Given the description of an element on the screen output the (x, y) to click on. 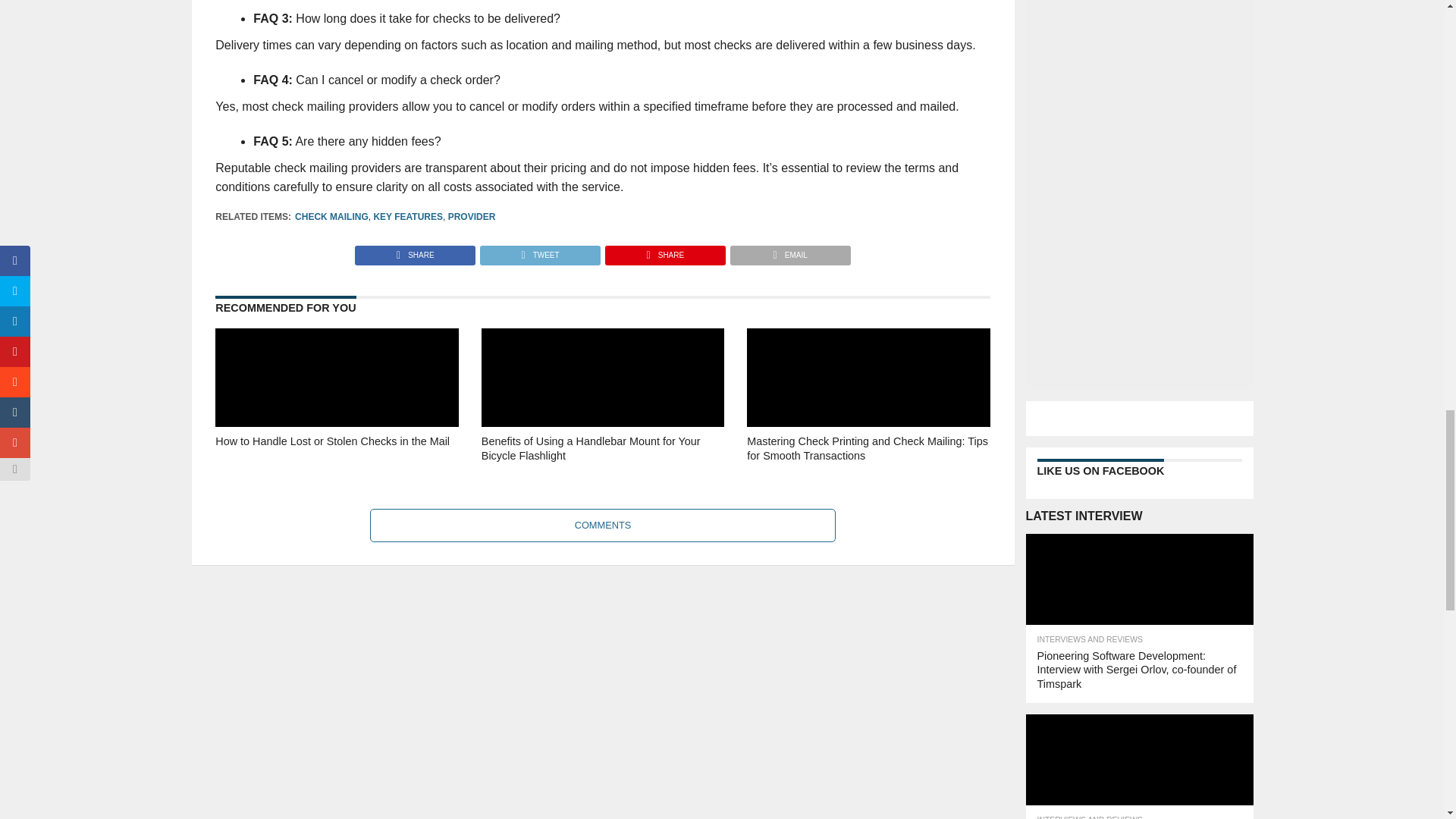
Pin This Post (664, 250)
How to Handle Lost or Stolen Checks in the Mail (336, 456)
Tweet This Post (539, 250)
Share on Facebook (415, 250)
